Given the description of an element on the screen output the (x, y) to click on. 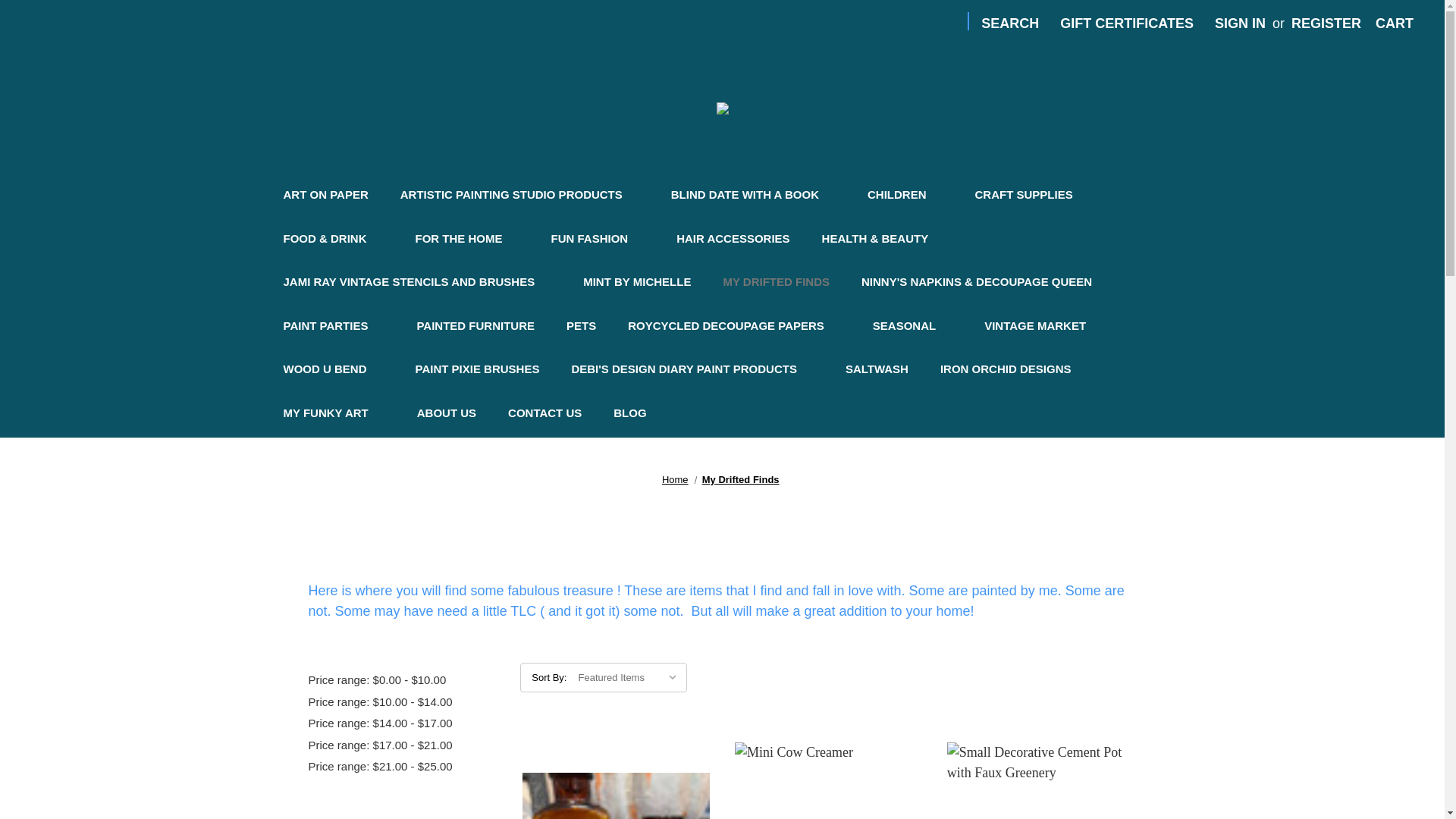
blendedvintagemarketplace (722, 108)
Instagram (952, 21)
Small Decorative Cement  Pot with Faux Greenery (1040, 780)
BLIND DATE WITH A BOOK (753, 198)
Mini Cow Creamer (828, 780)
ARTISTIC PAINTING STUDIO PRODUCTS (519, 198)
Pinterest (891, 21)
SEARCH (1010, 23)
GIFT CERTIFICATES (1126, 23)
Youtube (922, 21)
